Given the description of an element on the screen output the (x, y) to click on. 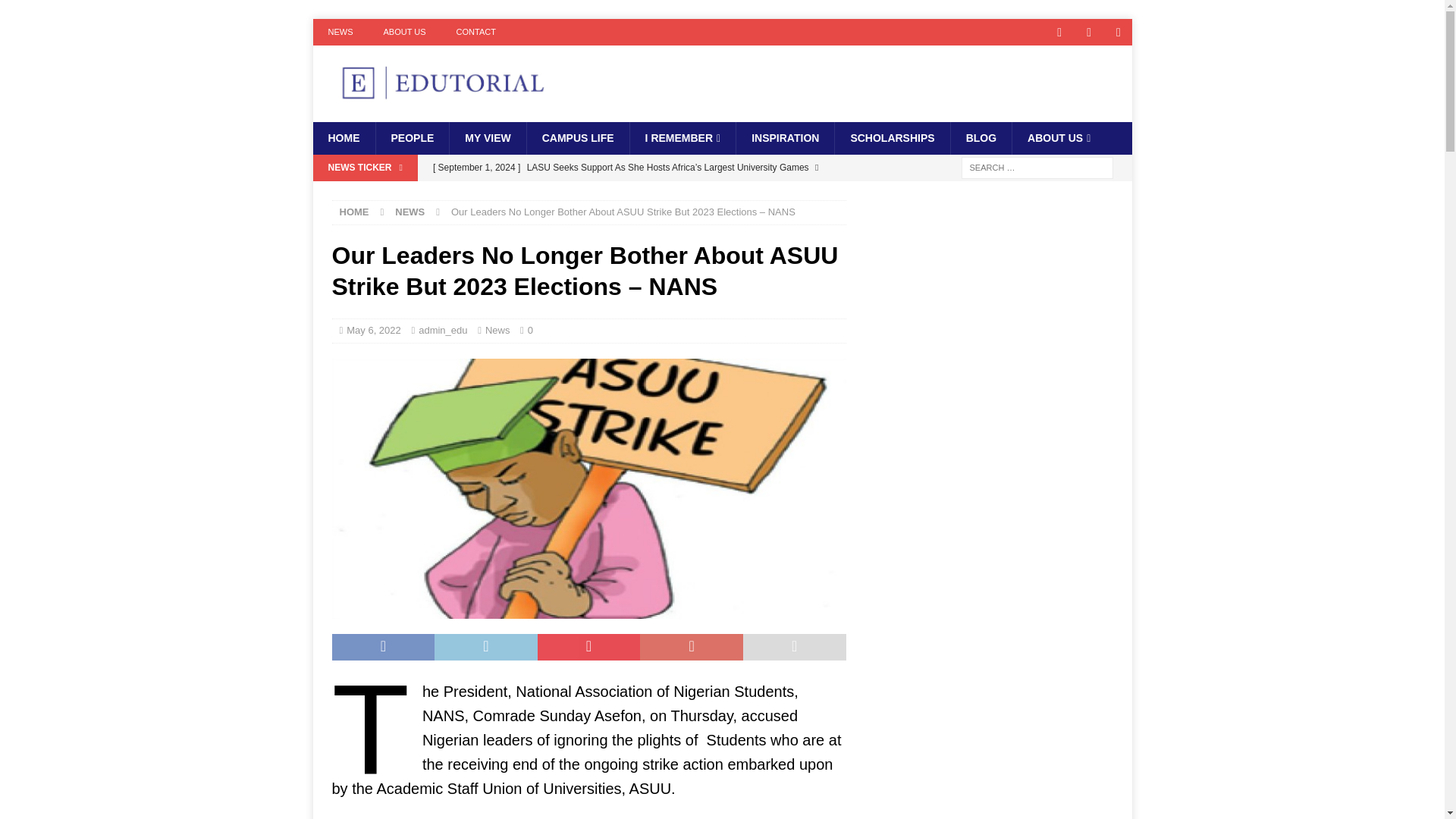
NEWS (340, 31)
BLOG (980, 137)
Search (56, 11)
MY VIEW (486, 137)
HOME (354, 211)
ABOUT US (404, 31)
asuu strike (588, 488)
NEWS (409, 211)
CAMPUS LIFE (576, 137)
INSPIRATION (784, 137)
